Given the description of an element on the screen output the (x, y) to click on. 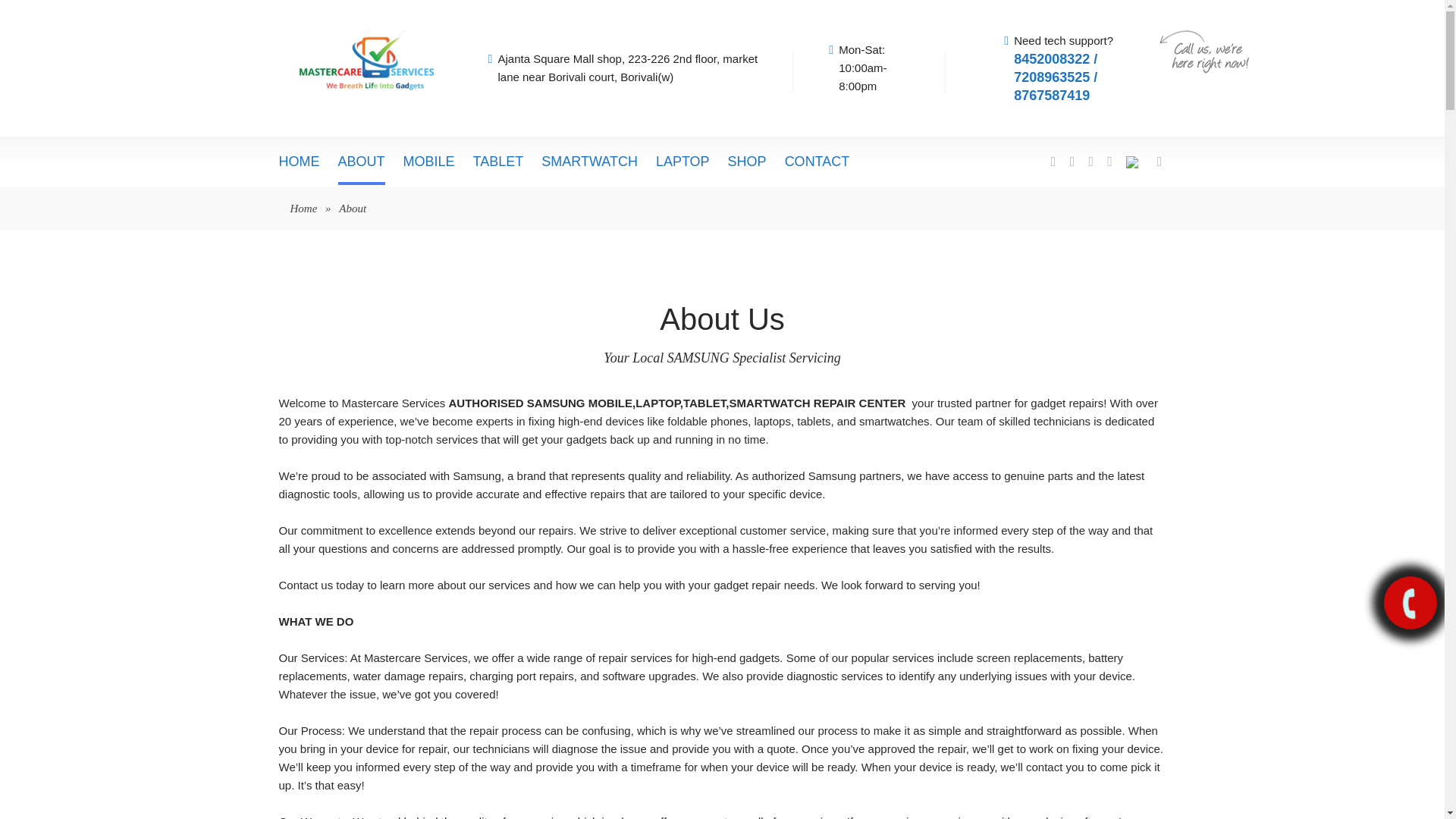
Home (303, 208)
TABLET (498, 158)
SMARTWATCH (589, 158)
ABOUT (361, 160)
HOME (299, 158)
CONTACT (817, 158)
MOBILE (428, 158)
LAPTOP (683, 158)
